Given the description of an element on the screen output the (x, y) to click on. 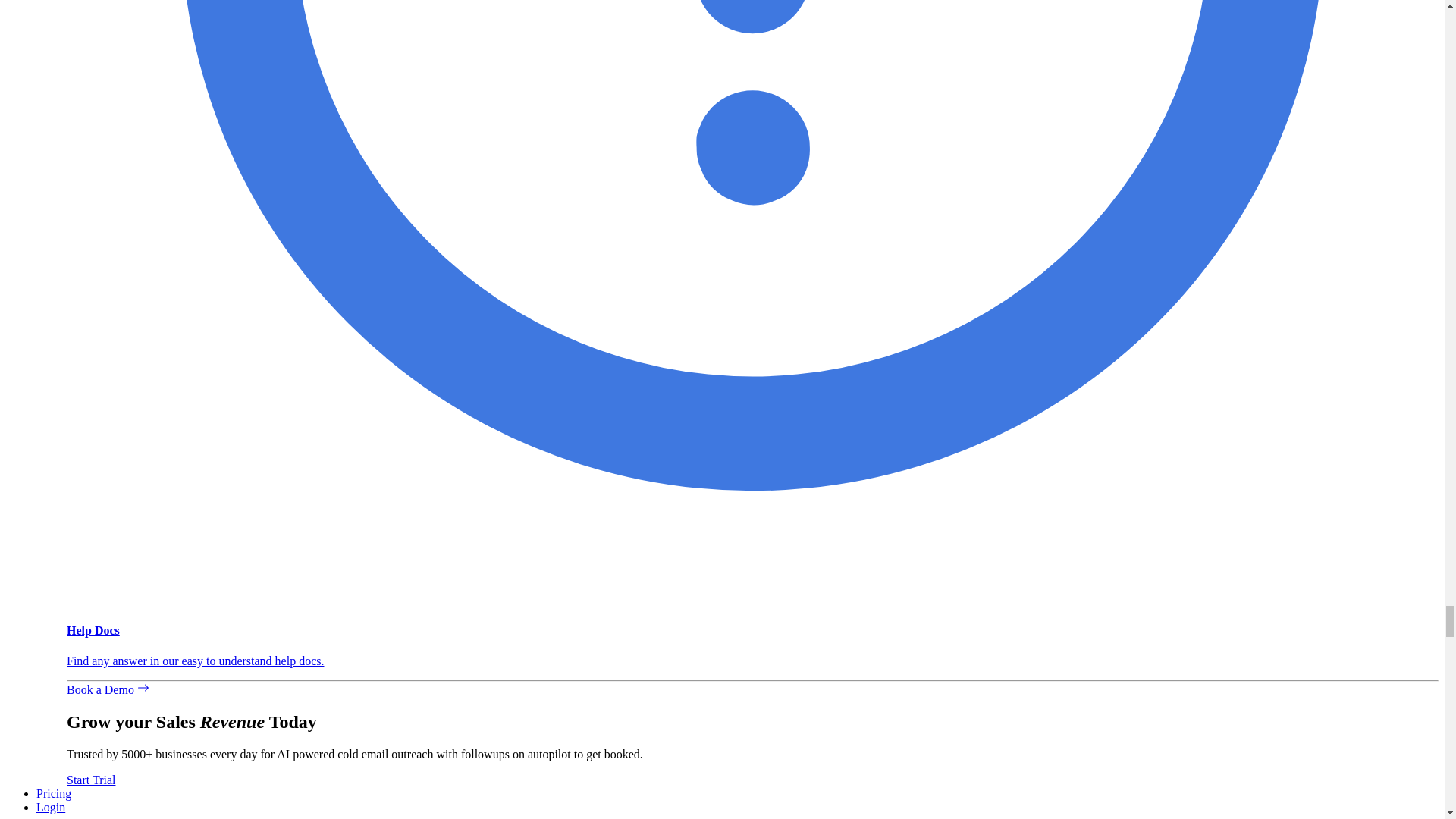
Pricing (53, 793)
Book a Demo (107, 689)
Start Trial (90, 779)
Login (50, 807)
